Given the description of an element on the screen output the (x, y) to click on. 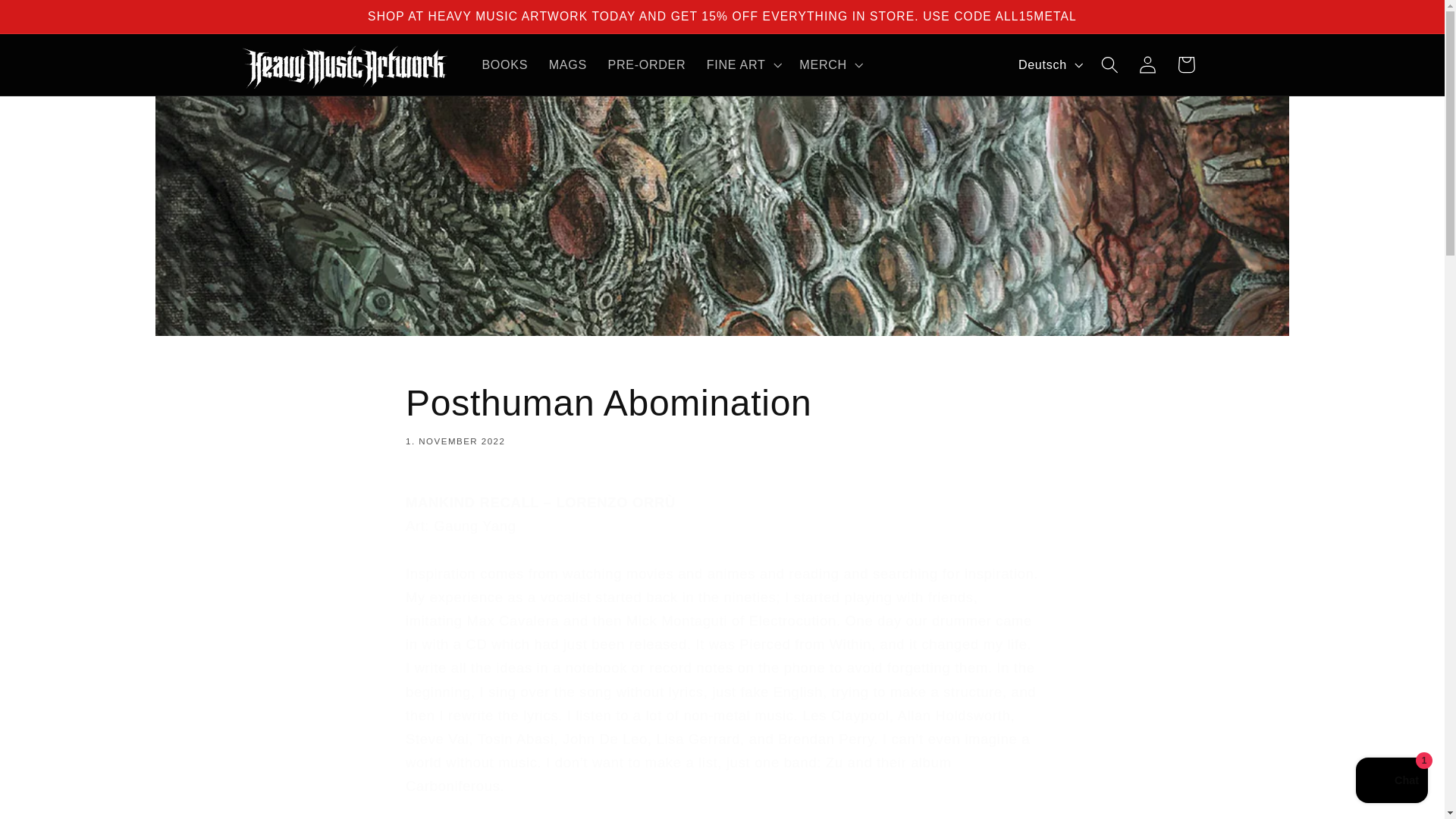
Onlineshop-Chat von Shopify (722, 413)
PRE-ORDER (1391, 781)
Deutsch (645, 63)
MAGS (1048, 64)
Warenkorb (567, 63)
Einloggen (1186, 64)
Direkt zum Inhalt (1147, 64)
BOOKS (52, 20)
